Given the description of an element on the screen output the (x, y) to click on. 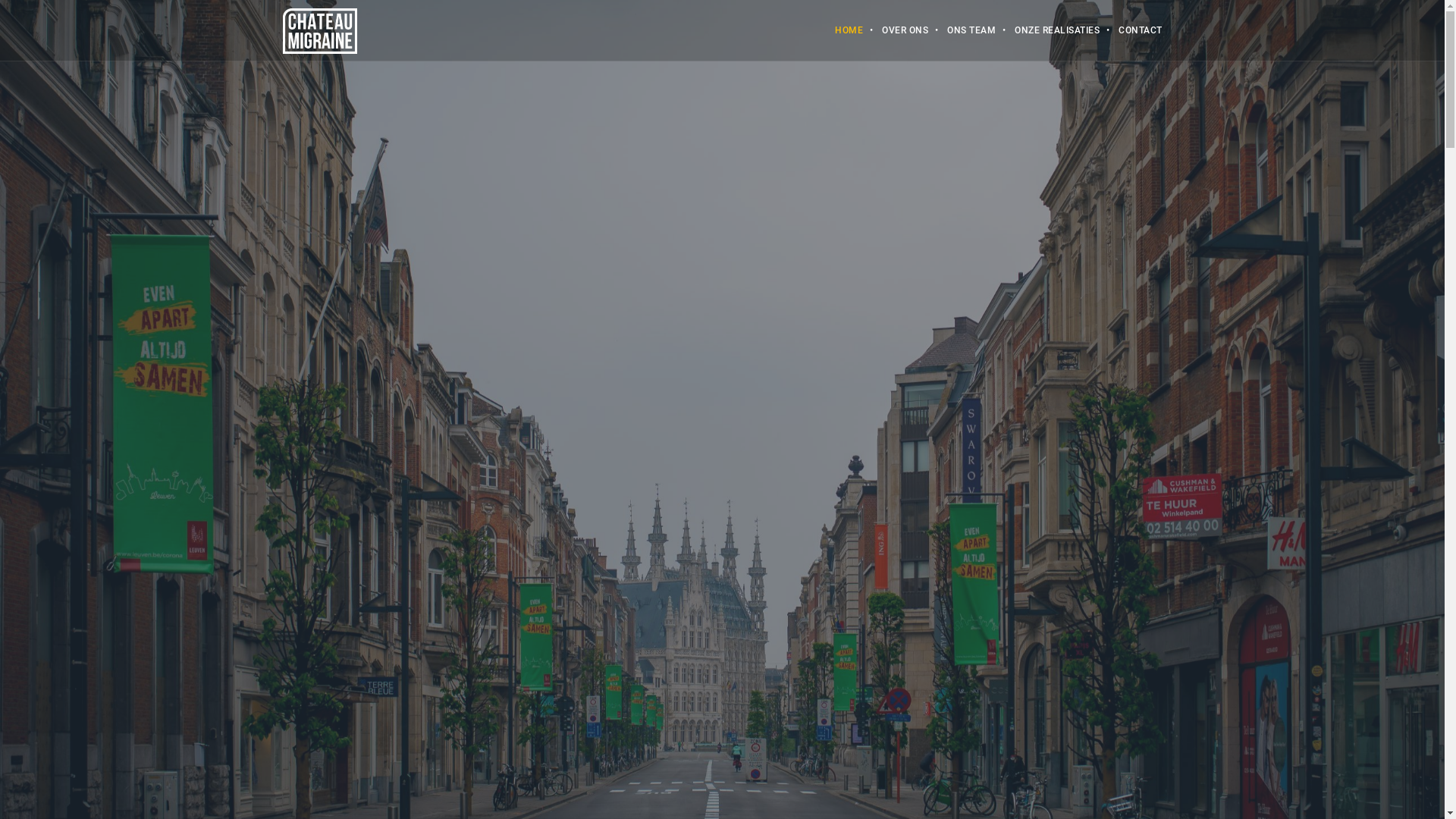
ONZE REALISATIES Element type: text (1047, 30)
HOME Element type: text (838, 30)
Chateau Migraine Element type: hover (319, 29)
CONTACT Element type: text (1130, 30)
OVER ONS Element type: text (895, 30)
ONS TEAM Element type: text (961, 30)
